Given the description of an element on the screen output the (x, y) to click on. 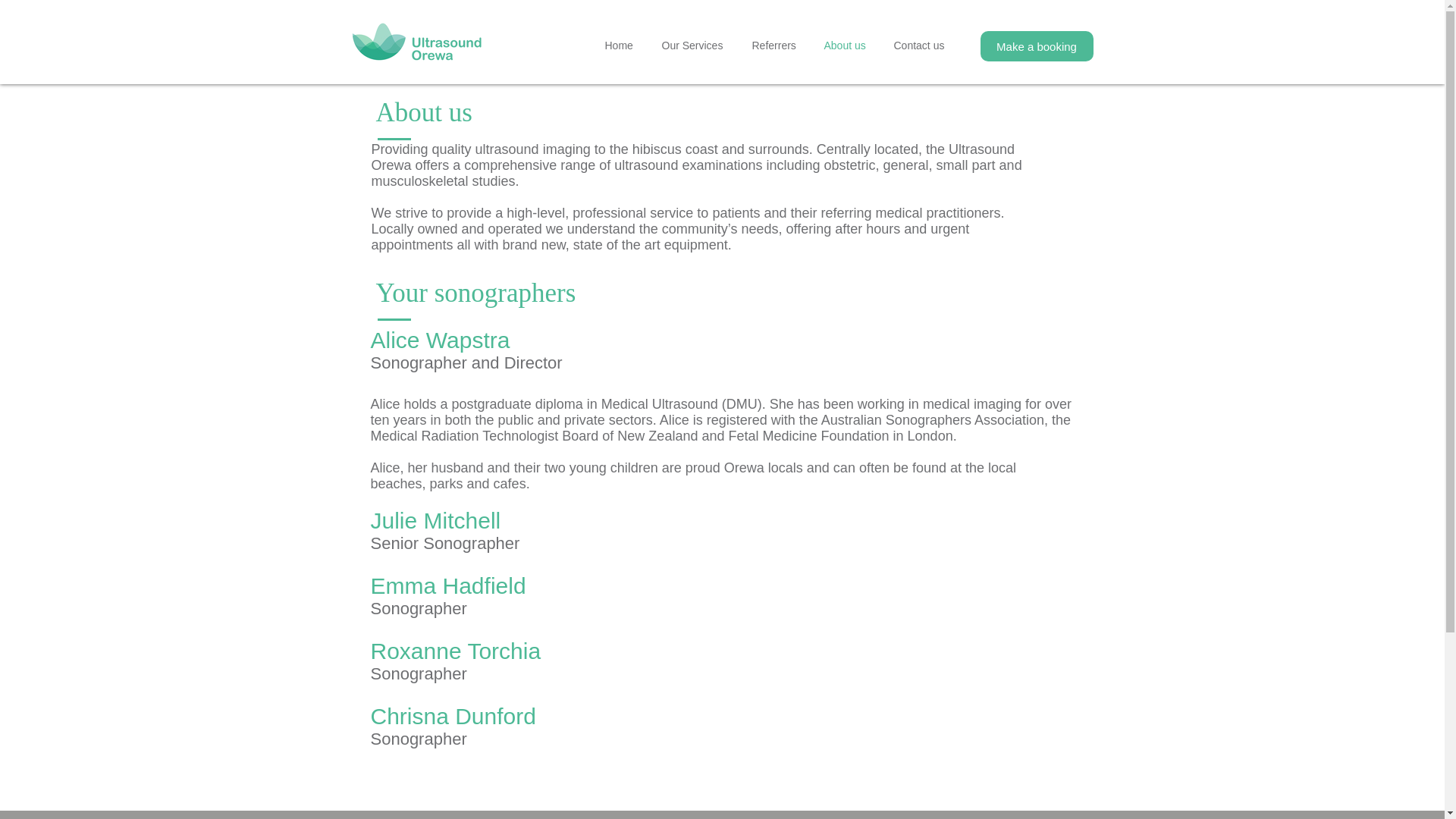
Contact us (921, 45)
About us (847, 45)
Make a booking (1036, 46)
Referrers (775, 45)
Our Services (695, 45)
Home (620, 45)
